Given the description of an element on the screen output the (x, y) to click on. 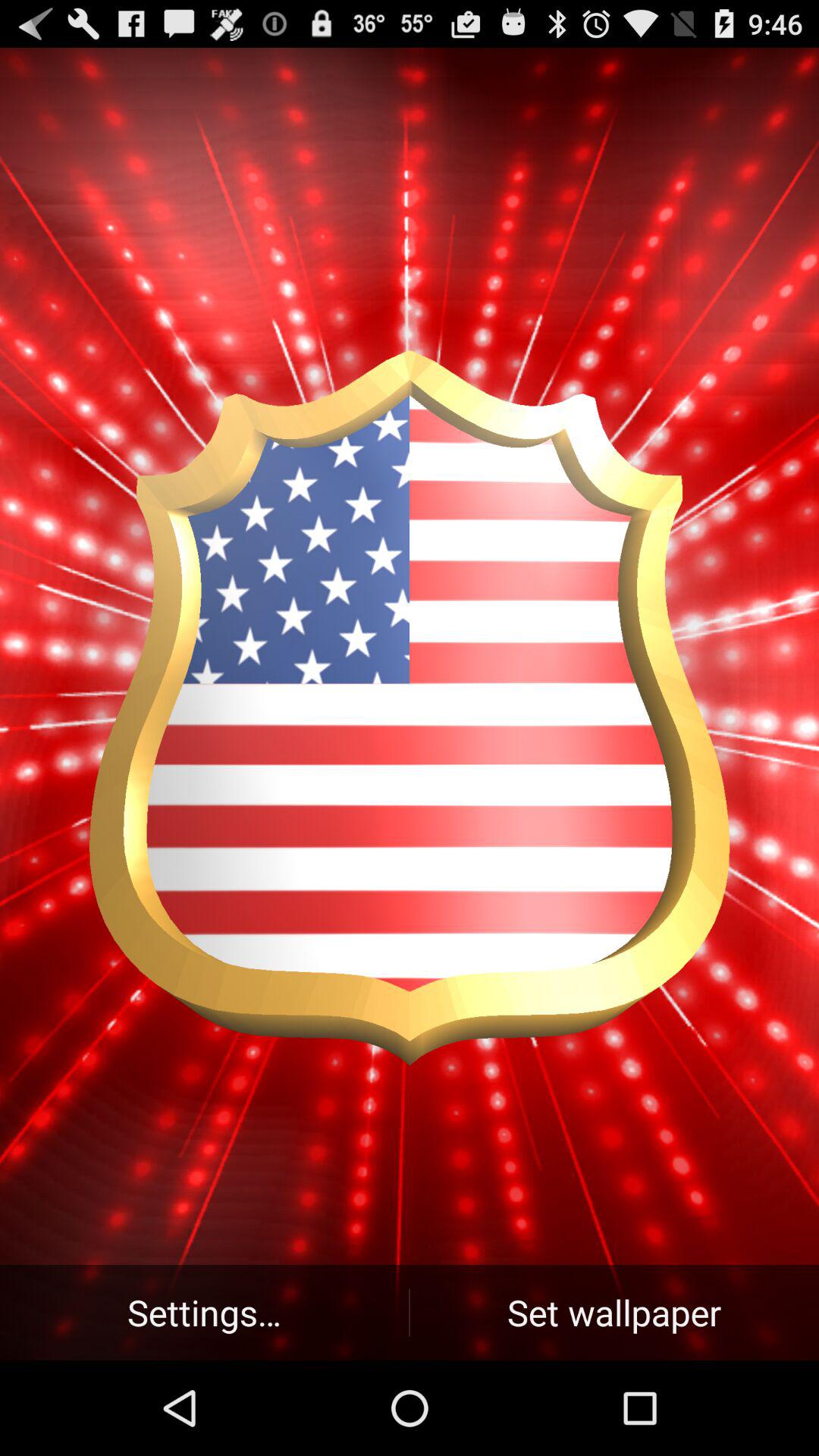
launch the set wallpaper (614, 1312)
